Given the description of an element on the screen output the (x, y) to click on. 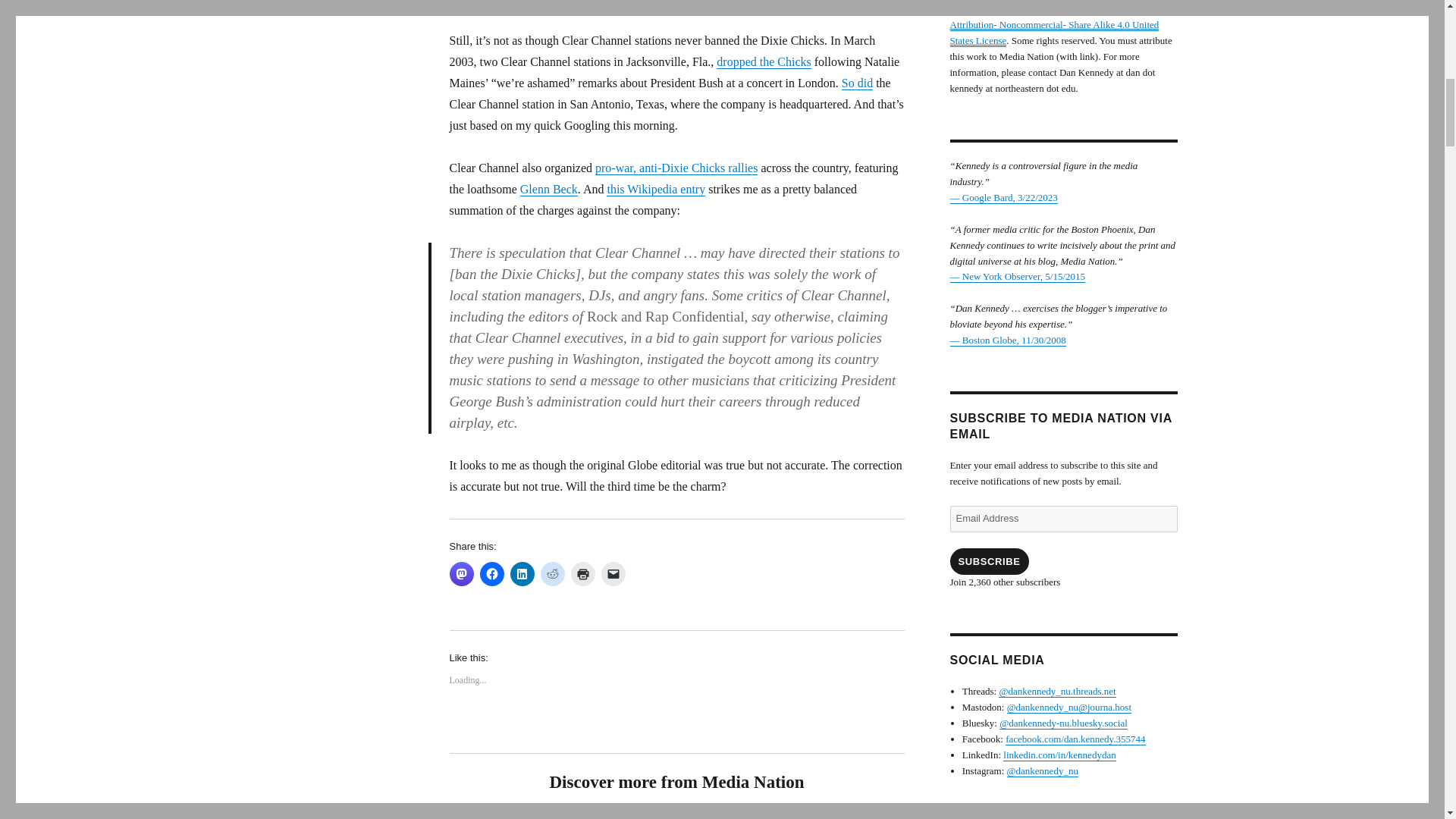
Glenn Beck (548, 188)
this Wikipedia entry (655, 188)
dropped the Chicks (763, 61)
pro-war, anti-Dixie Chicks rallies (676, 167)
Click to share on Reddit (552, 573)
Click to share on Mastodon (460, 573)
Click to print (582, 573)
Click to email a link to a friend (611, 573)
Click to share on LinkedIn (521, 573)
So did (856, 82)
Click to share on Facebook (491, 573)
